Given the description of an element on the screen output the (x, y) to click on. 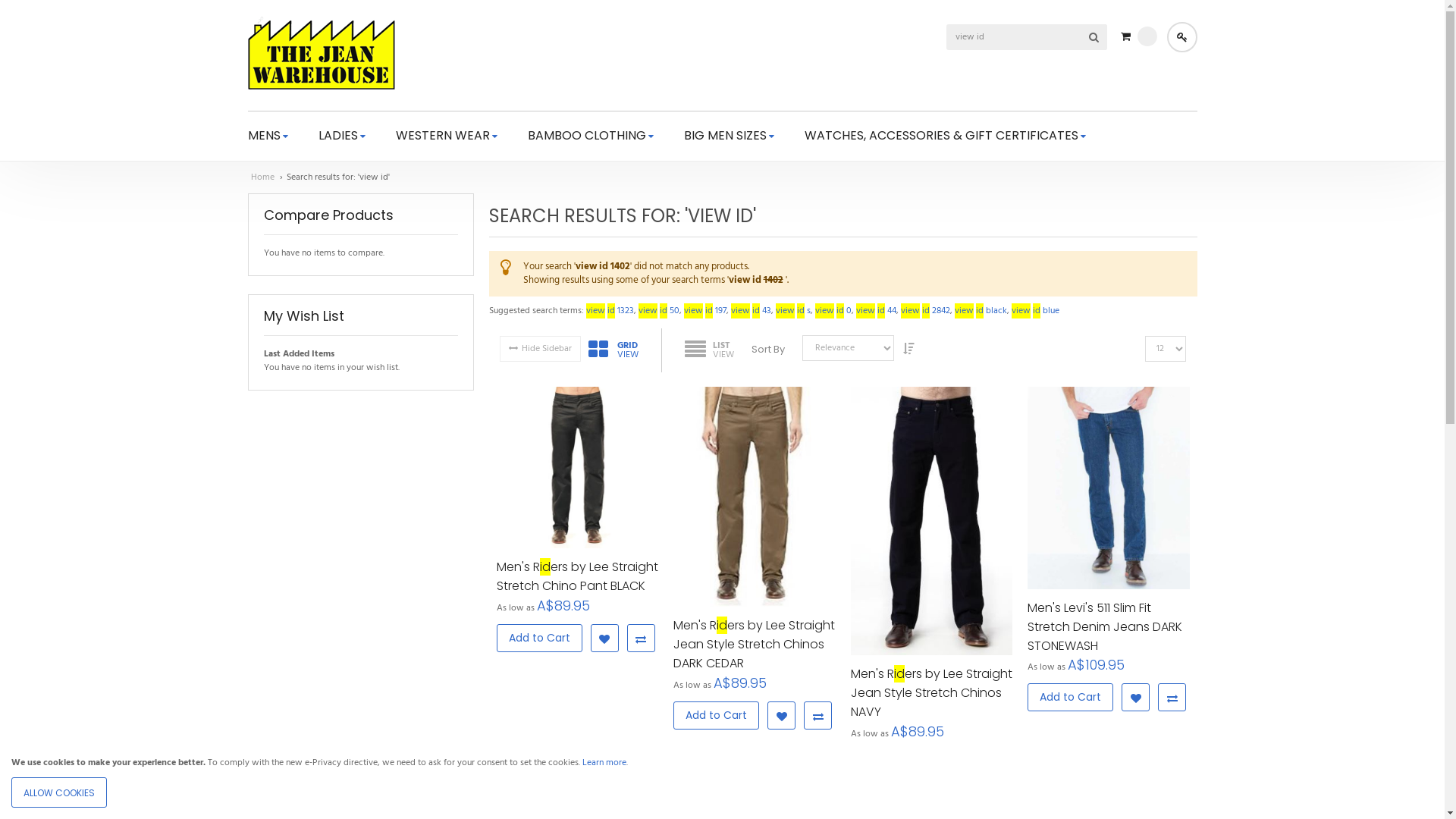
view id black Element type: text (979, 310)
Add to Compare Element type: hover (995, 763)
LADIES Element type: text (341, 135)
Add to Wish List Element type: hover (1135, 697)
Add to Wish List Element type: hover (603, 638)
view id 50 Element type: text (658, 310)
LIST
VIEW Element type: text (697, 350)
view id 1323 Element type: text (609, 310)
Add to Compare Element type: hover (1171, 697)
view id s Element type: text (792, 310)
THE JEAN WAREHOUSE Element type: hover (320, 55)
THE JEAN WAREHOUSE Element type: hover (320, 52)
Add to Compare Element type: hover (640, 638)
Add to Compare Element type: hover (817, 715)
Search Element type: hover (1094, 37)
Add to Cart Element type: text (1070, 697)
Set Ascending Direction Element type: text (909, 347)
view id 44 Element type: text (875, 310)
Men's Levi's 511 Slim Fit Stretch Denim Jeans DARK STONEWASH Element type: text (1108, 626)
ALLOW COOKIES Element type: text (58, 792)
view id 197 Element type: text (705, 310)
Home Element type: text (261, 177)
WATCHES, ACCESSORIES & GIFT CERTIFICATES Element type: text (944, 135)
Add to Cart Element type: text (893, 763)
Add to Cart Element type: text (538, 638)
Sign In Element type: text (1181, 36)
Add to Wish List Element type: hover (781, 715)
BAMBOO CLOTHING Element type: text (590, 135)
Add to Cart Element type: text (716, 715)
view id 0 Element type: text (832, 310)
Add to Wish List Element type: hover (958, 763)
Learn more Element type: text (604, 762)
view id 43 Element type: text (751, 310)
Men's Riders by Lee Straight Stretch Chino Pant BLACK Element type: text (576, 576)
WESTERN WEAR Element type: text (446, 135)
view id 2842 Element type: text (925, 310)
Men's Riders by Lee Straight Jean Style Stretch Chinos NAVY Element type: text (931, 692)
BIG MEN SIZES Element type: text (729, 135)
view id blue Element type: text (1035, 310)
MENS Element type: text (267, 135)
